Given the description of an element on the screen output the (x, y) to click on. 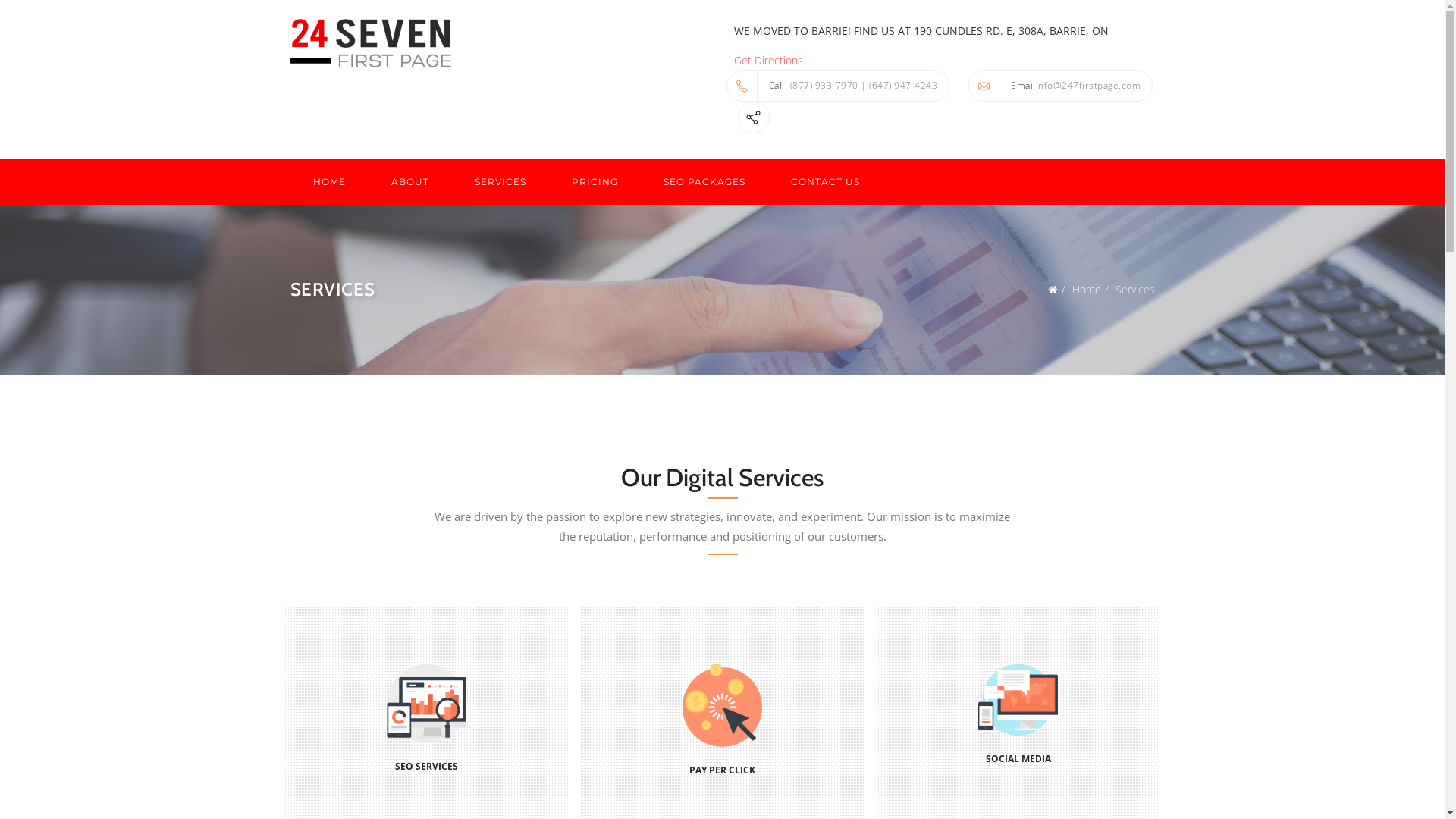
Get Directions Element type: text (768, 60)
SEO PACKAGES Element type: text (703, 181)
Home Element type: text (1086, 289)
CONTACT US Element type: text (824, 181)
ABOUT Element type: text (409, 181)
Call: (877) 933-7970 | (647) 947-4243 Element type: text (838, 85)
PRICING Element type: text (594, 181)
HOME Element type: text (328, 181)
Emailinfo@247firstpage.com Element type: text (1060, 85)
SERVICES Element type: text (500, 181)
